Given the description of an element on the screen output the (x, y) to click on. 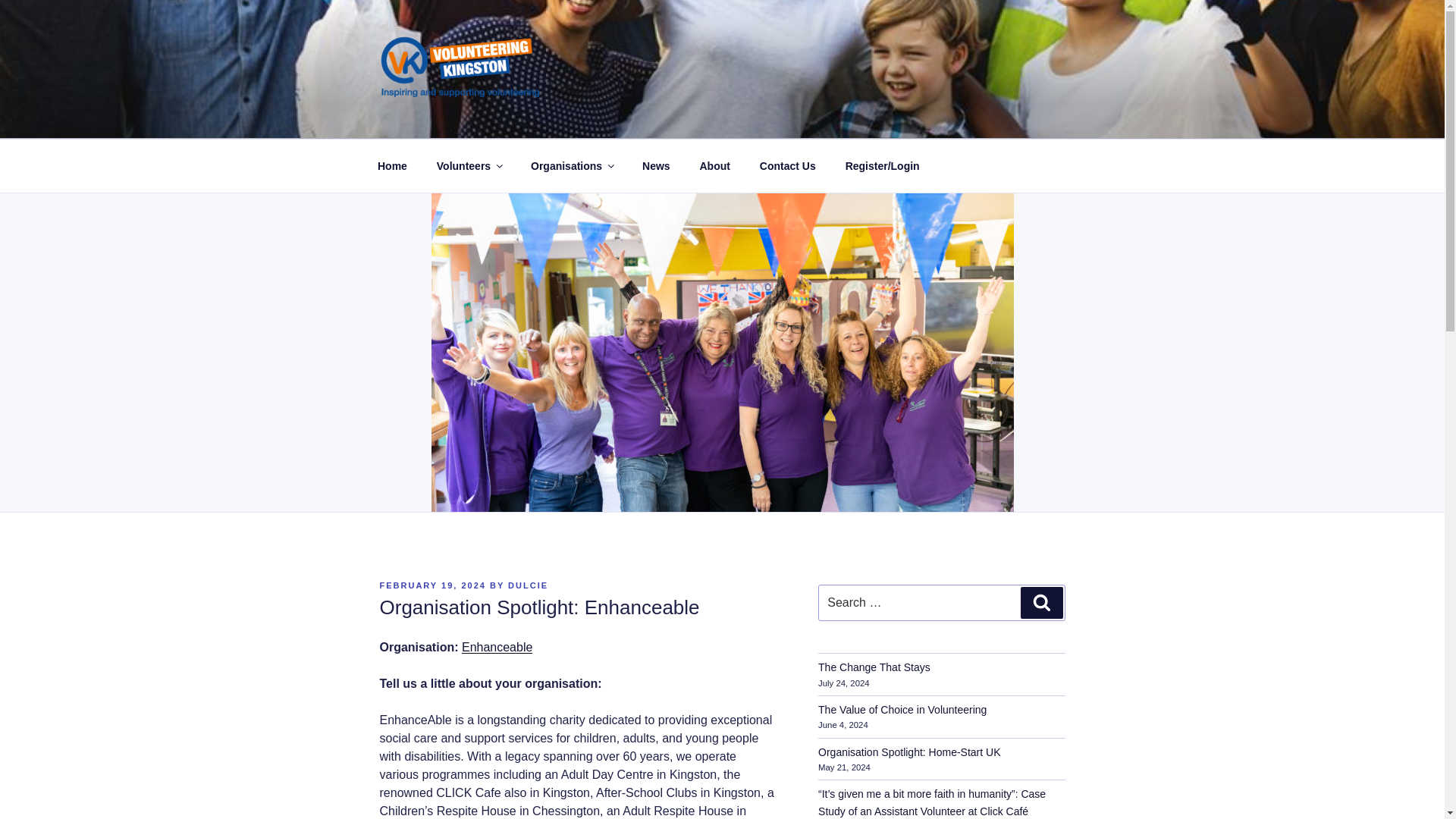
News (656, 165)
DULCIE (528, 584)
Home (392, 165)
VOLUNTEERING KINGSTON (585, 119)
Organisations (571, 165)
Organisation Spotlight: Home-Start UK (909, 752)
FEBRUARY 19, 2024 (431, 584)
Volunteers (468, 165)
The Change That Stays (874, 666)
Contact Us (786, 165)
About (713, 165)
Enhanceable (496, 646)
The Value of Choice in Volunteering (902, 709)
